Given the description of an element on the screen output the (x, y) to click on. 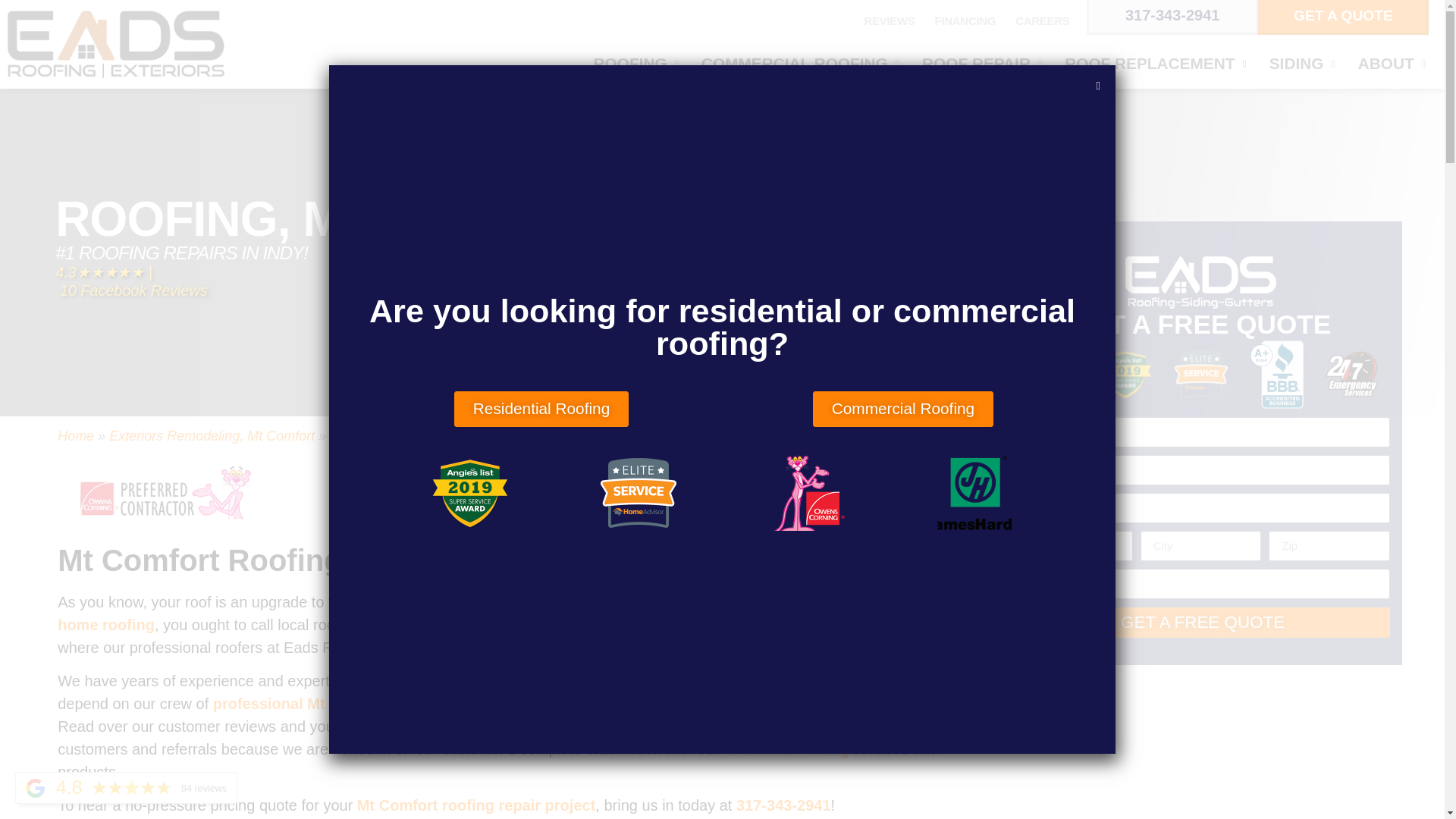
Powered by Google (35, 787)
